Given the description of an element on the screen output the (x, y) to click on. 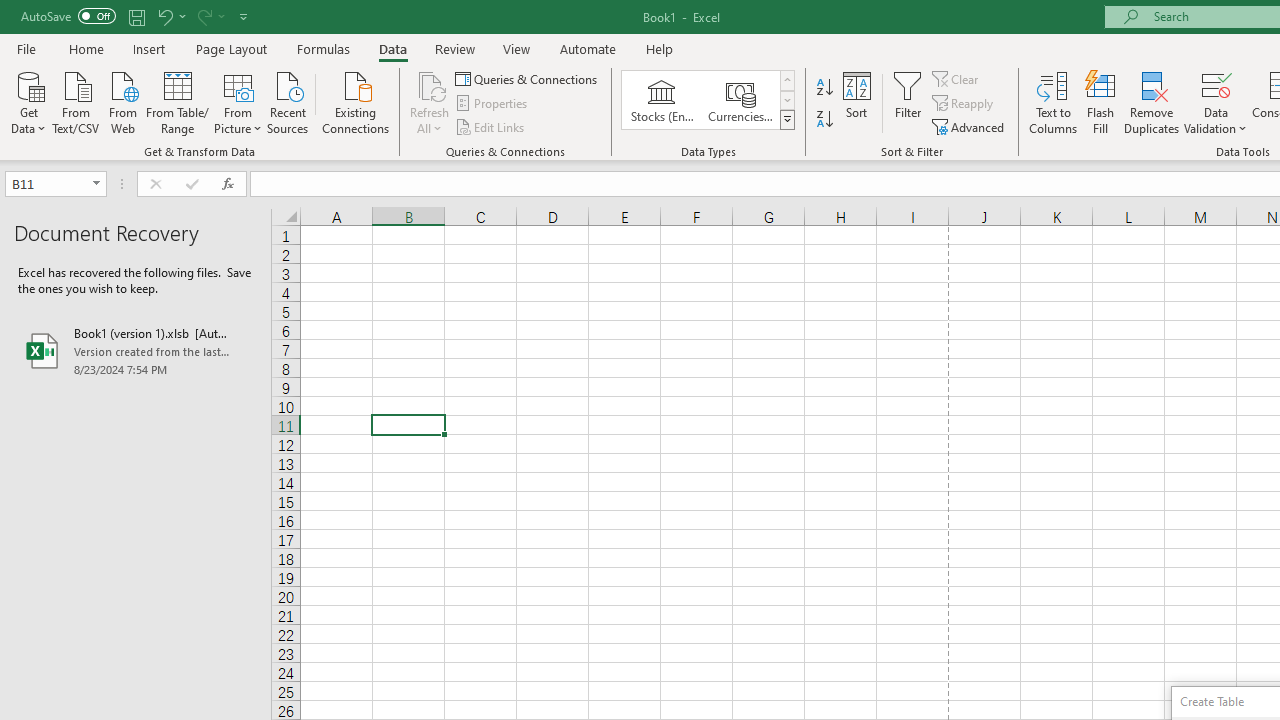
From Web (122, 101)
Queries & Connections (527, 78)
Filter (908, 102)
Refresh All (429, 84)
Edit Links (491, 126)
Automate (588, 48)
Clear (957, 78)
Row Down (786, 100)
Existing Connections (355, 101)
Get Data (28, 101)
Sort A to Z (824, 87)
From Table/Range (177, 101)
